Given the description of an element on the screen output the (x, y) to click on. 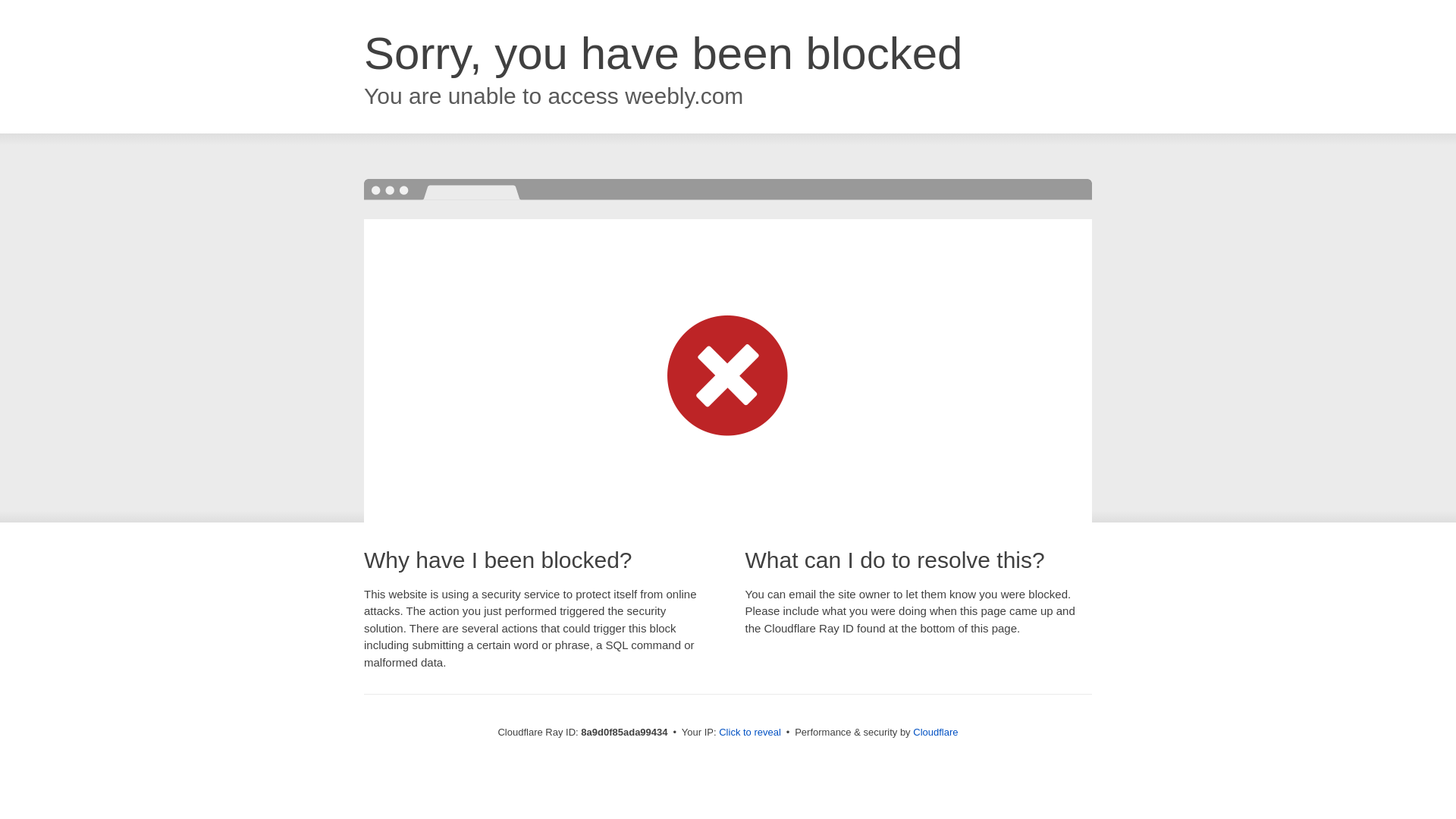
Cloudflare (935, 731)
Click to reveal (749, 732)
